Given the description of an element on the screen output the (x, y) to click on. 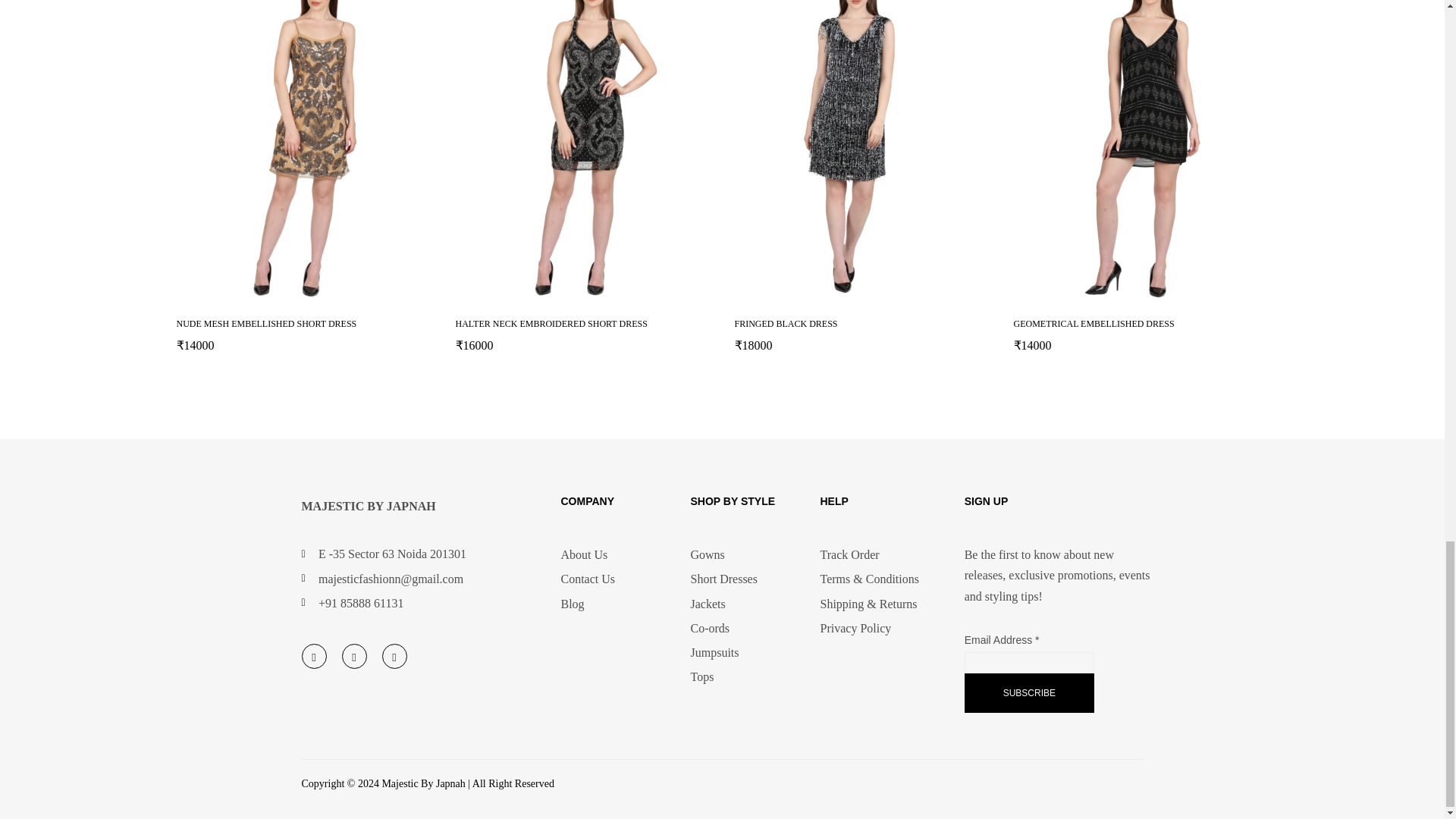
Subscribe (1028, 692)
